Given the description of an element on the screen output the (x, y) to click on. 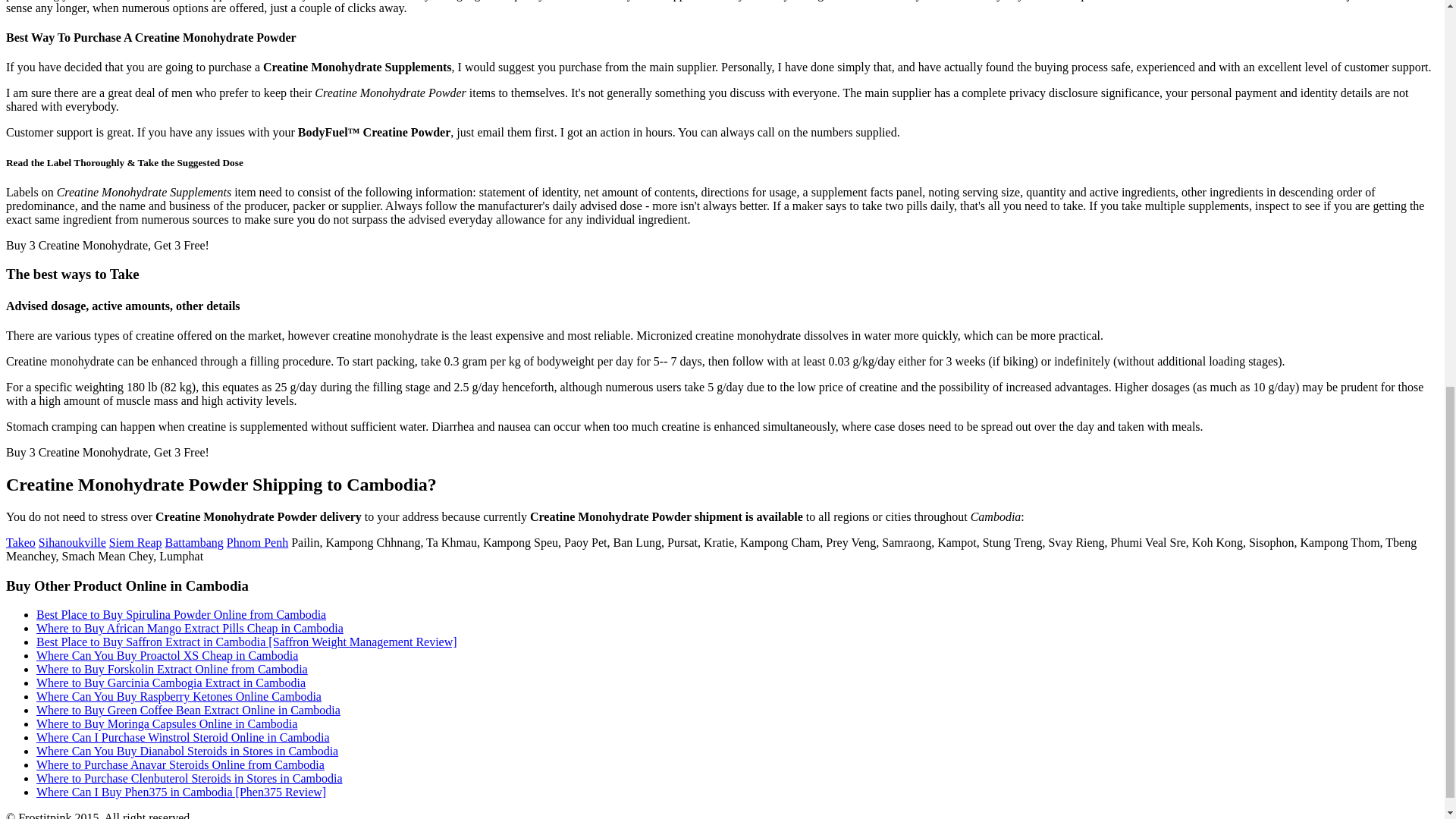
Where to Buy Green Coffee Bean Extract Online in Cambodia (188, 709)
Where Can I Purchase Winstrol Steroid Online in Cambodia (183, 737)
Where to Buy Moringa Capsules Online in Cambodia (166, 723)
Where to Buy Green Coffee Bean Extract Online in Cambodia (188, 709)
Takeo (19, 542)
Best Place to Buy Spirulina Powder Online from Cambodia (181, 614)
Where Can You Buy Dianabol Steroids in Stores in Cambodia (186, 750)
Where to Buy Forskolin Extract Online from Cambodia (171, 668)
